Given the description of an element on the screen output the (x, y) to click on. 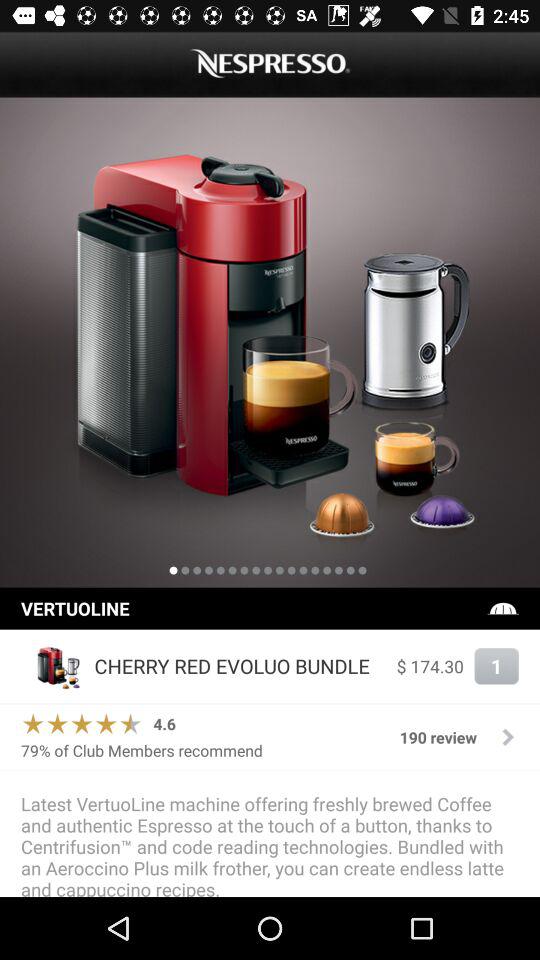
swipe to the $ 174.30 (429, 666)
